Given the description of an element on the screen output the (x, y) to click on. 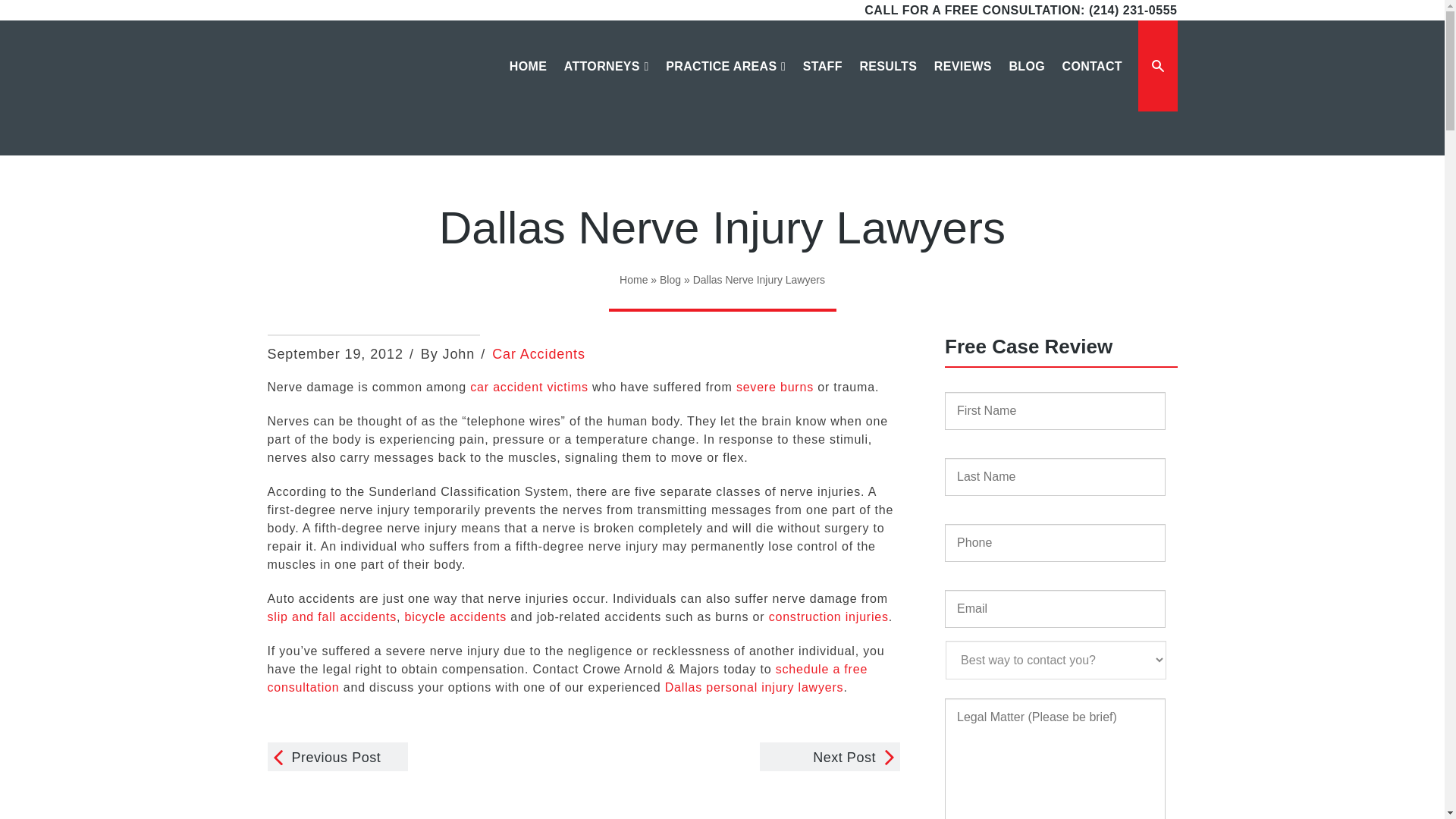
Bicycle and Pedestrian Accidents (455, 615)
REVIEWS (962, 81)
Search (1096, 65)
STAFF (821, 81)
PRACTICE AREAS (724, 81)
CONTACT (1091, 81)
Dallas Injury Lawyers (339, 92)
RESULTS (887, 81)
HOME (527, 81)
Construction Accidents (828, 615)
